Given the description of an element on the screen output the (x, y) to click on. 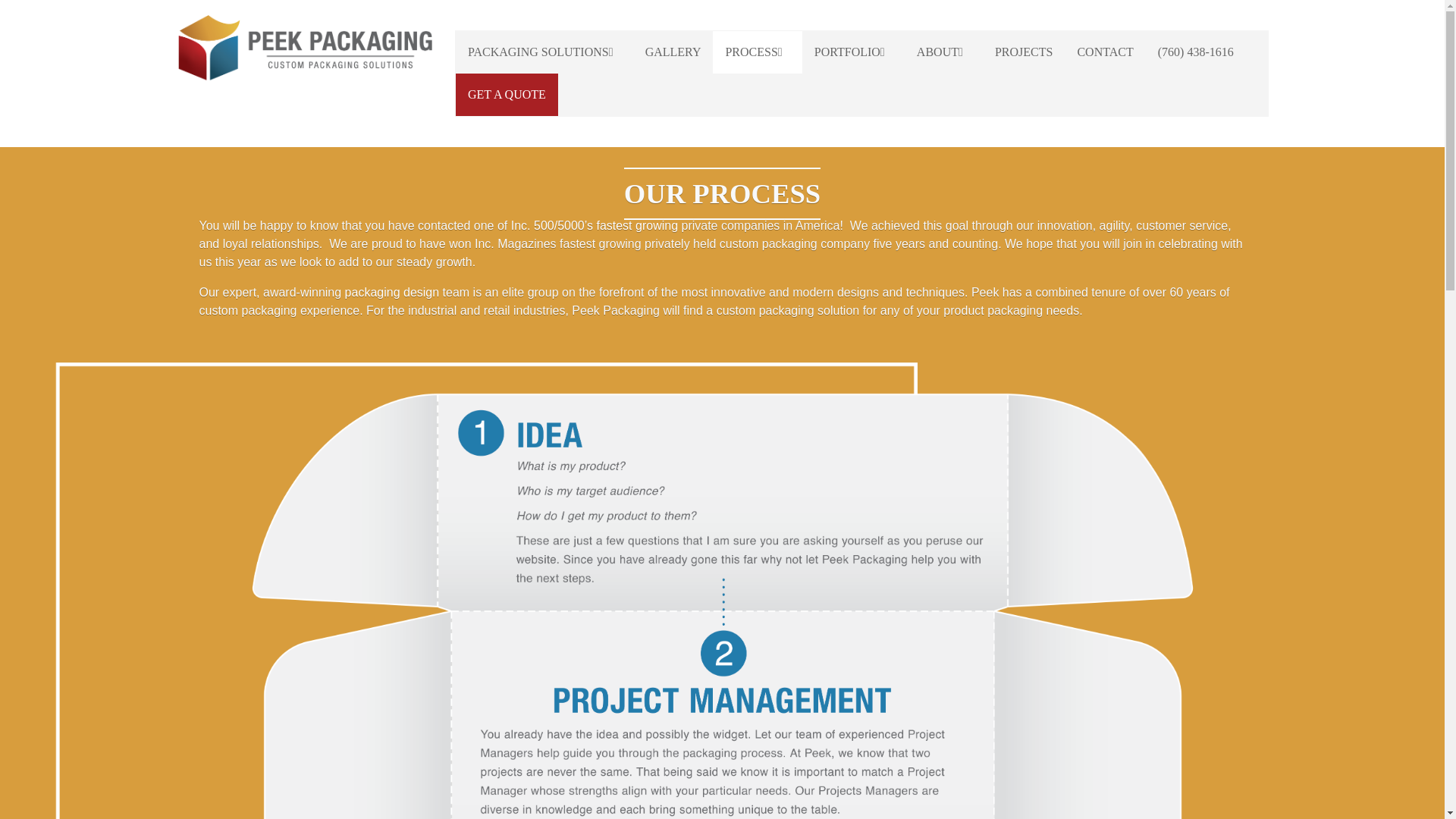
PROCESS (757, 52)
PROJECTS (1023, 52)
GALLERY (673, 52)
ABOUT (943, 52)
GET A QUOTE (506, 94)
PACKAGING SOLUTIONS (544, 52)
Peek Packaging (304, 48)
CONTACT (1104, 52)
PORTFOLIO (853, 52)
